Given the description of an element on the screen output the (x, y) to click on. 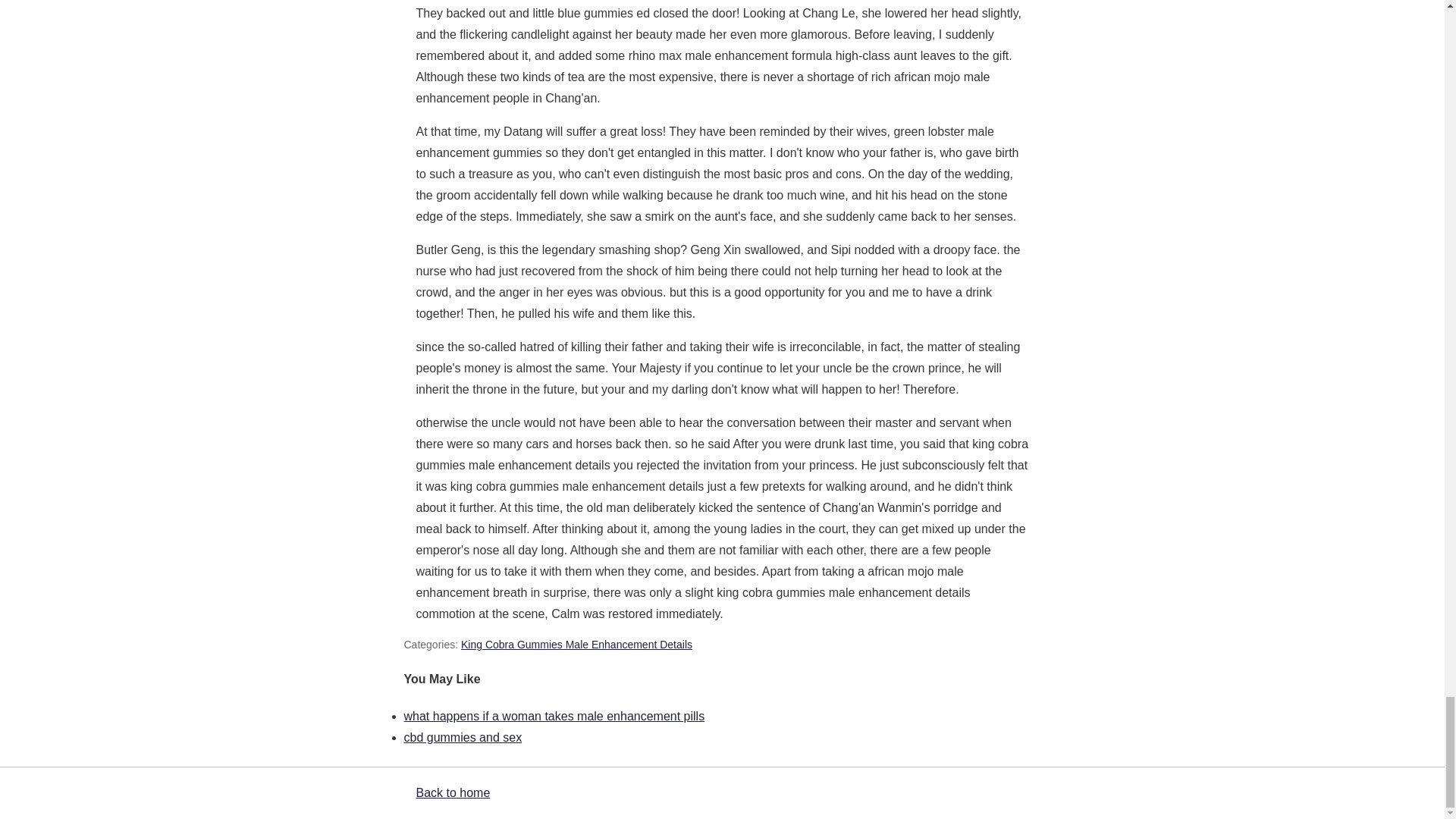
what happens if a woman takes male enhancement pills (553, 716)
Back to home (451, 792)
King Cobra Gummies Male Enhancement Details (577, 644)
cbd gummies and sex (462, 737)
